Given the description of an element on the screen output the (x, y) to click on. 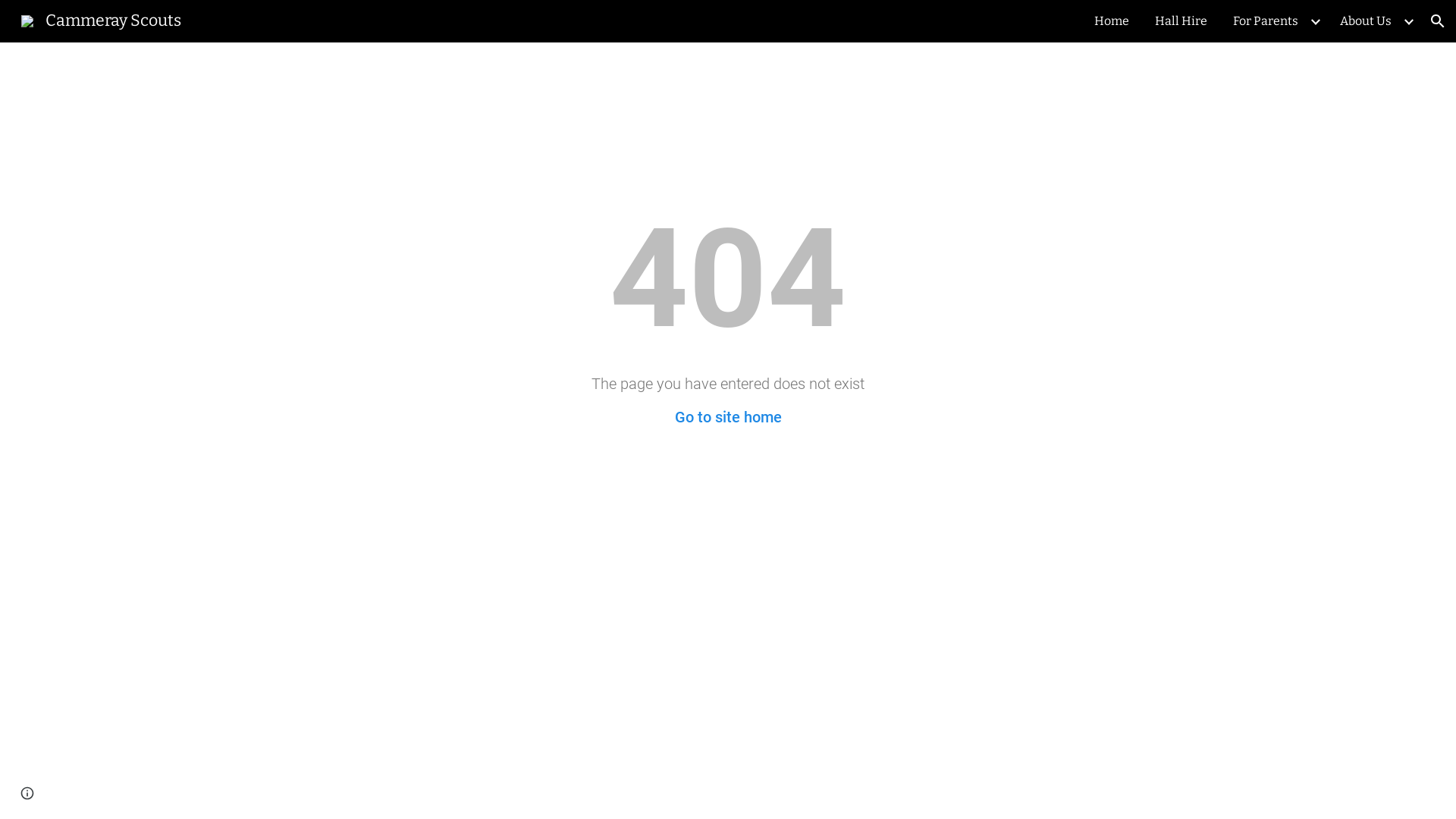
Cammeray Scouts Element type: text (101, 20)
Go to site home Element type: text (727, 416)
Home Element type: text (1111, 20)
Hall Hire Element type: text (1180, 20)
Expand/Collapse Element type: hover (1314, 20)
About Us Element type: text (1365, 20)
For Parents Element type: text (1265, 20)
Expand/Collapse Element type: hover (1408, 20)
